Given the description of an element on the screen output the (x, y) to click on. 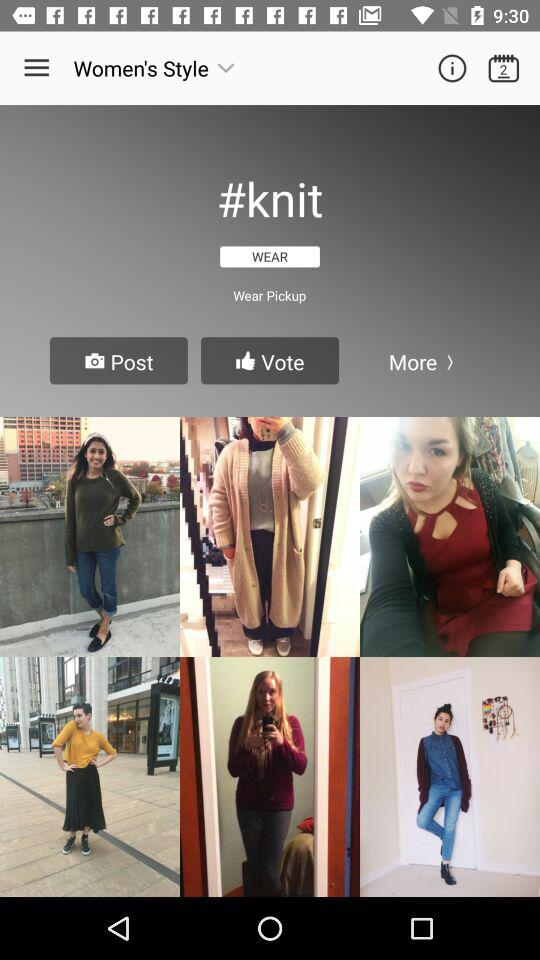
open calendar (503, 68)
